Given the description of an element on the screen output the (x, y) to click on. 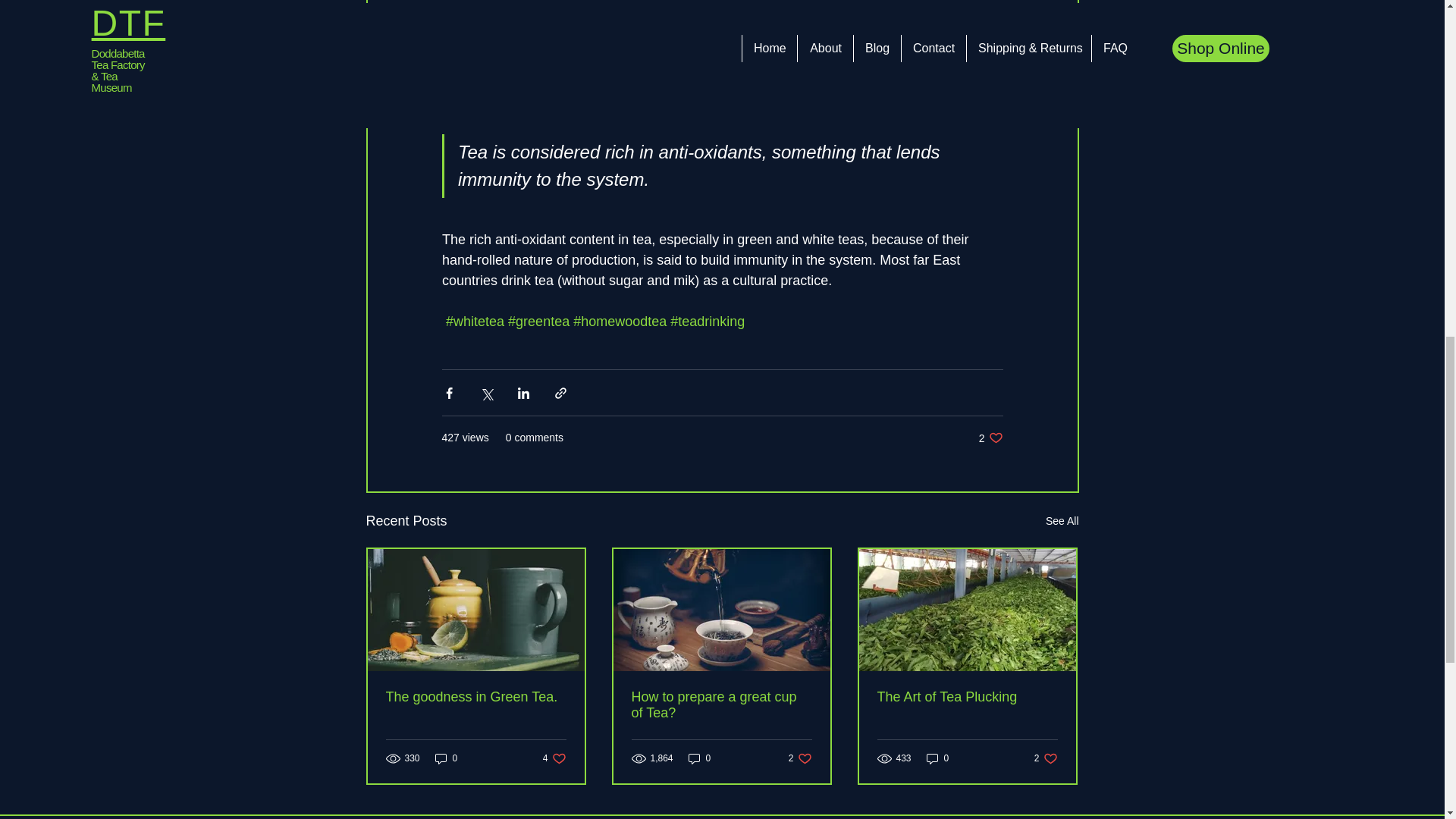
The Art of Tea Plucking (554, 758)
0 (966, 697)
See All (937, 758)
How to prepare a great cup of Tea? (800, 758)
0 (1061, 521)
0 (720, 705)
The goodness in Green Tea. (700, 758)
